Given the description of an element on the screen output the (x, y) to click on. 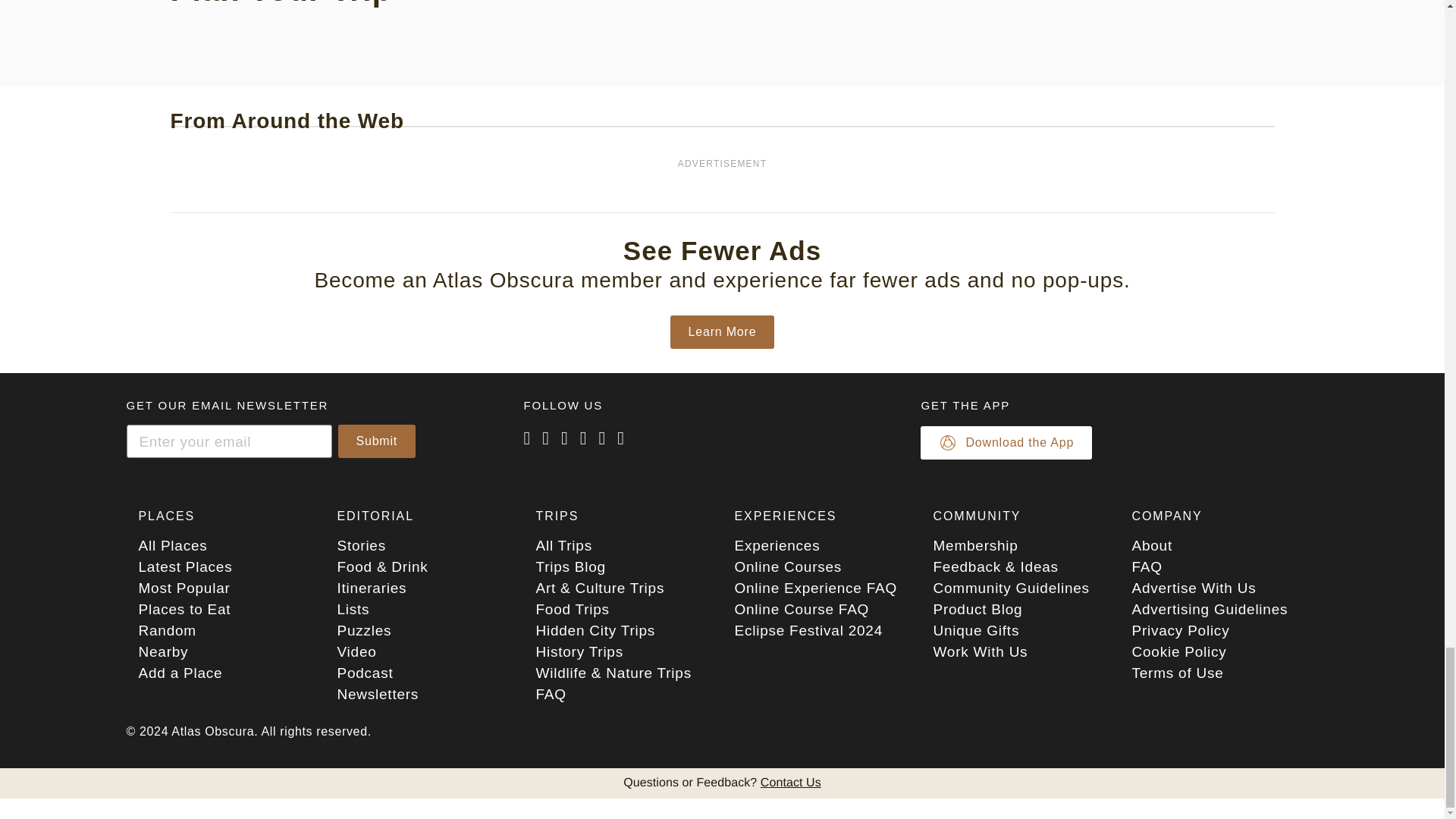
Submit (376, 441)
